Given the description of an element on the screen output the (x, y) to click on. 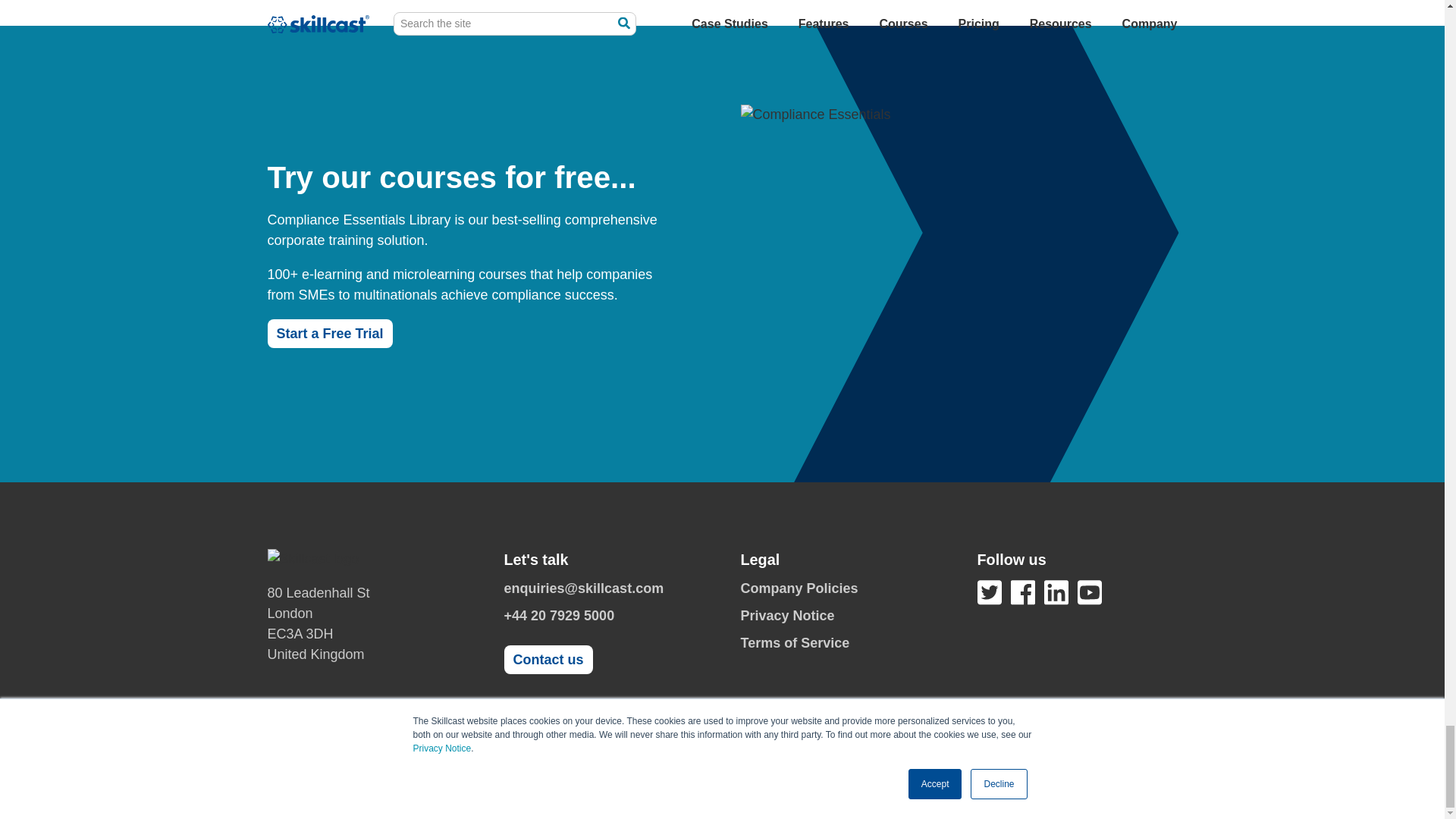
Start a Free Trial (328, 333)
Contact us (547, 659)
